Given the description of an element on the screen output the (x, y) to click on. 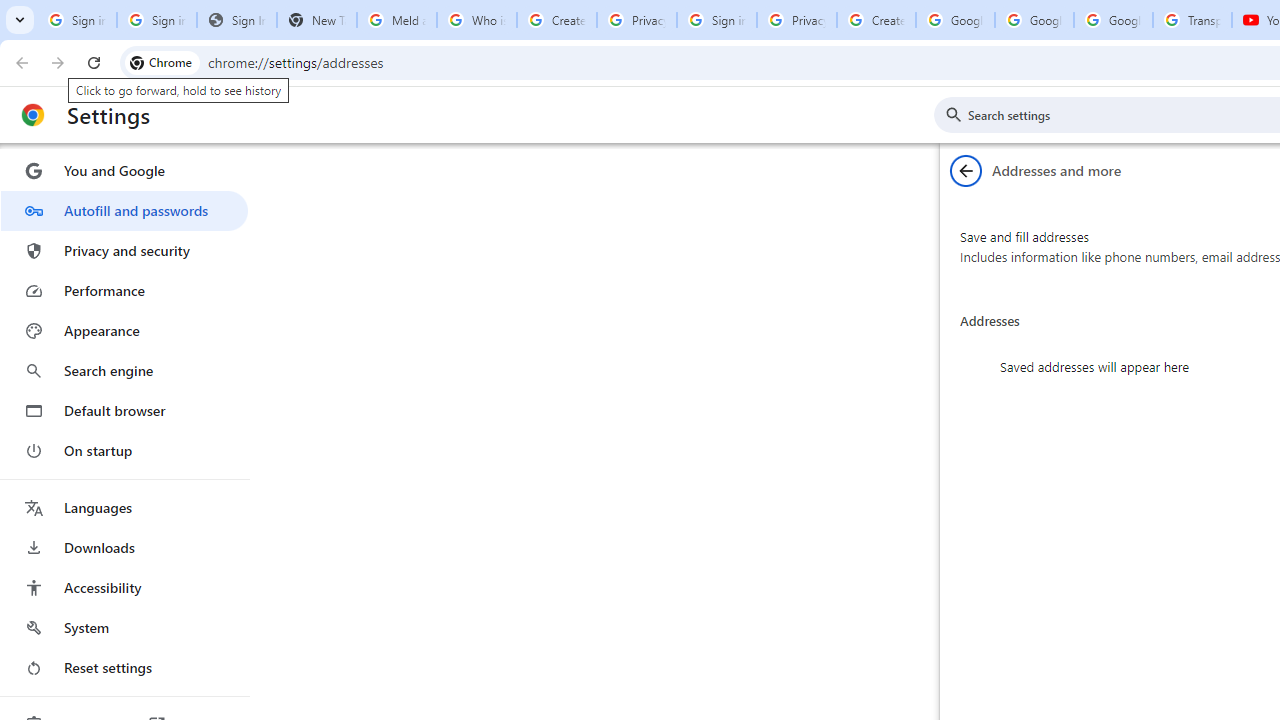
Default browser (124, 410)
